Given the description of an element on the screen output the (x, y) to click on. 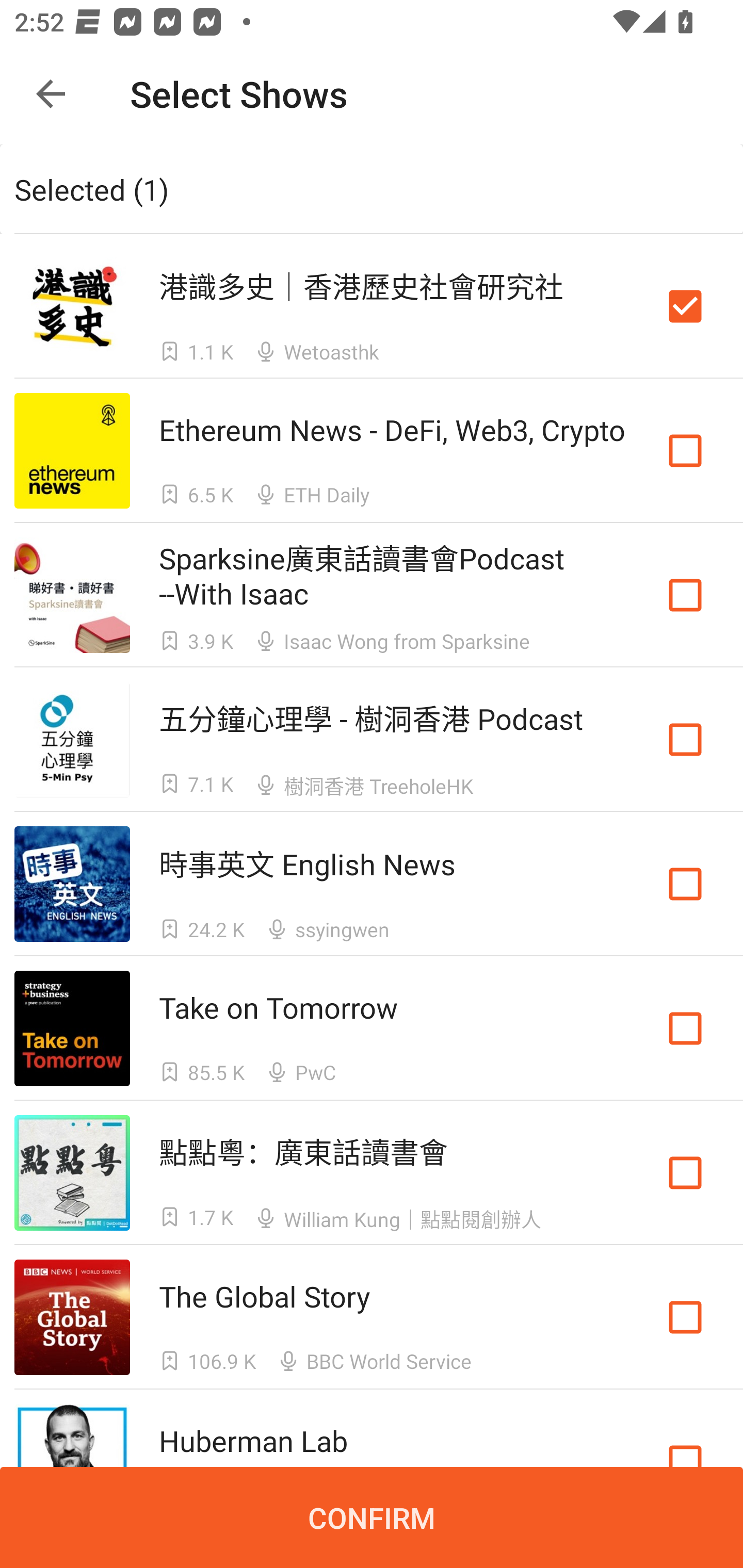
Navigate up (50, 93)
港識多史｜香港歷史社會研究社 港識多史｜香港歷史社會研究社  1.1 K  Wetoasthk (371, 305)
Take on Tomorrow Take on Tomorrow  85.5 K  PwC (371, 1028)
CONFIRM (371, 1517)
